Given the description of an element on the screen output the (x, y) to click on. 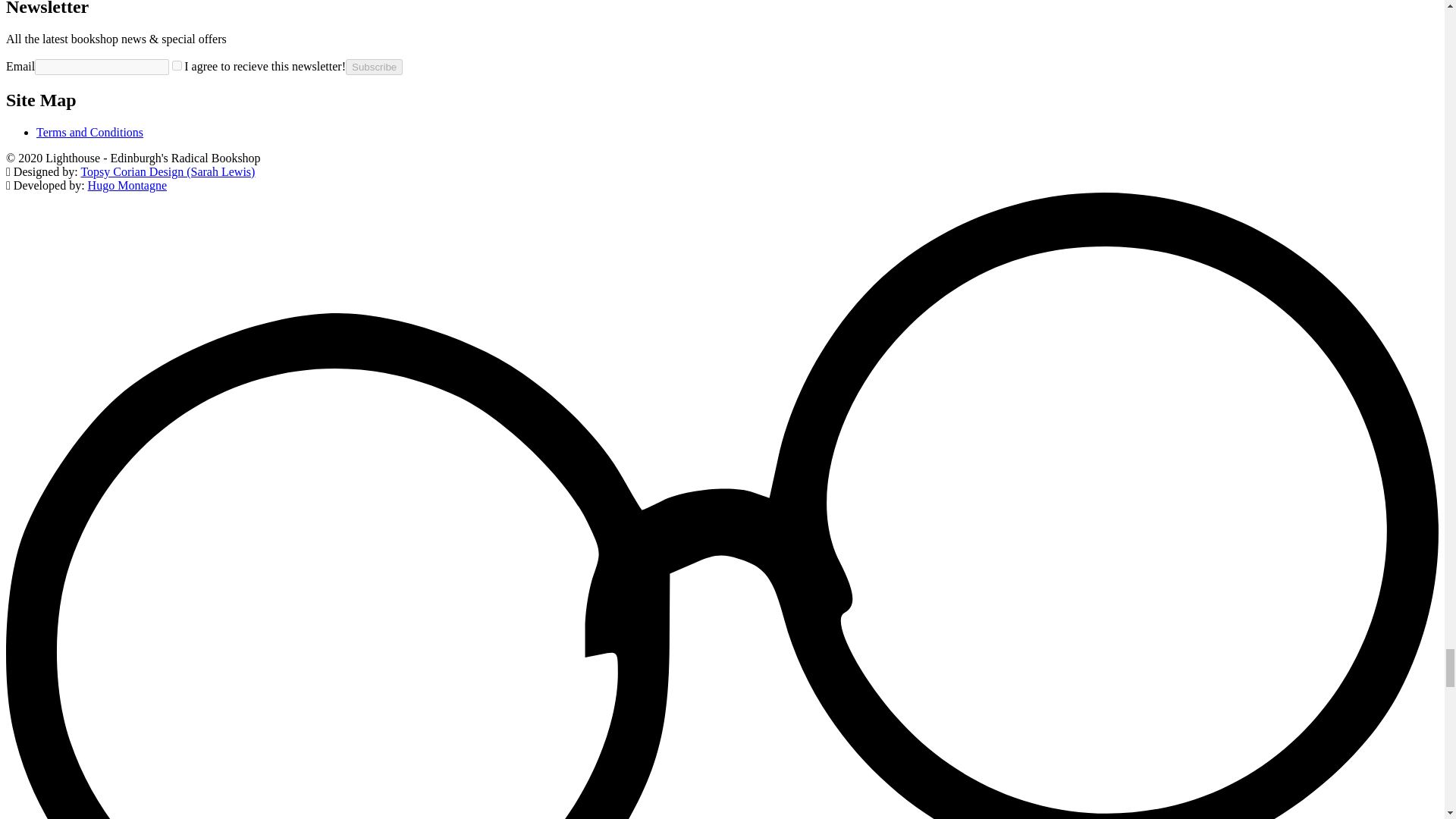
Subscribe (374, 66)
Hugo Montagne (127, 185)
on (176, 65)
Terms and Conditions (89, 132)
